Given the description of an element on the screen output the (x, y) to click on. 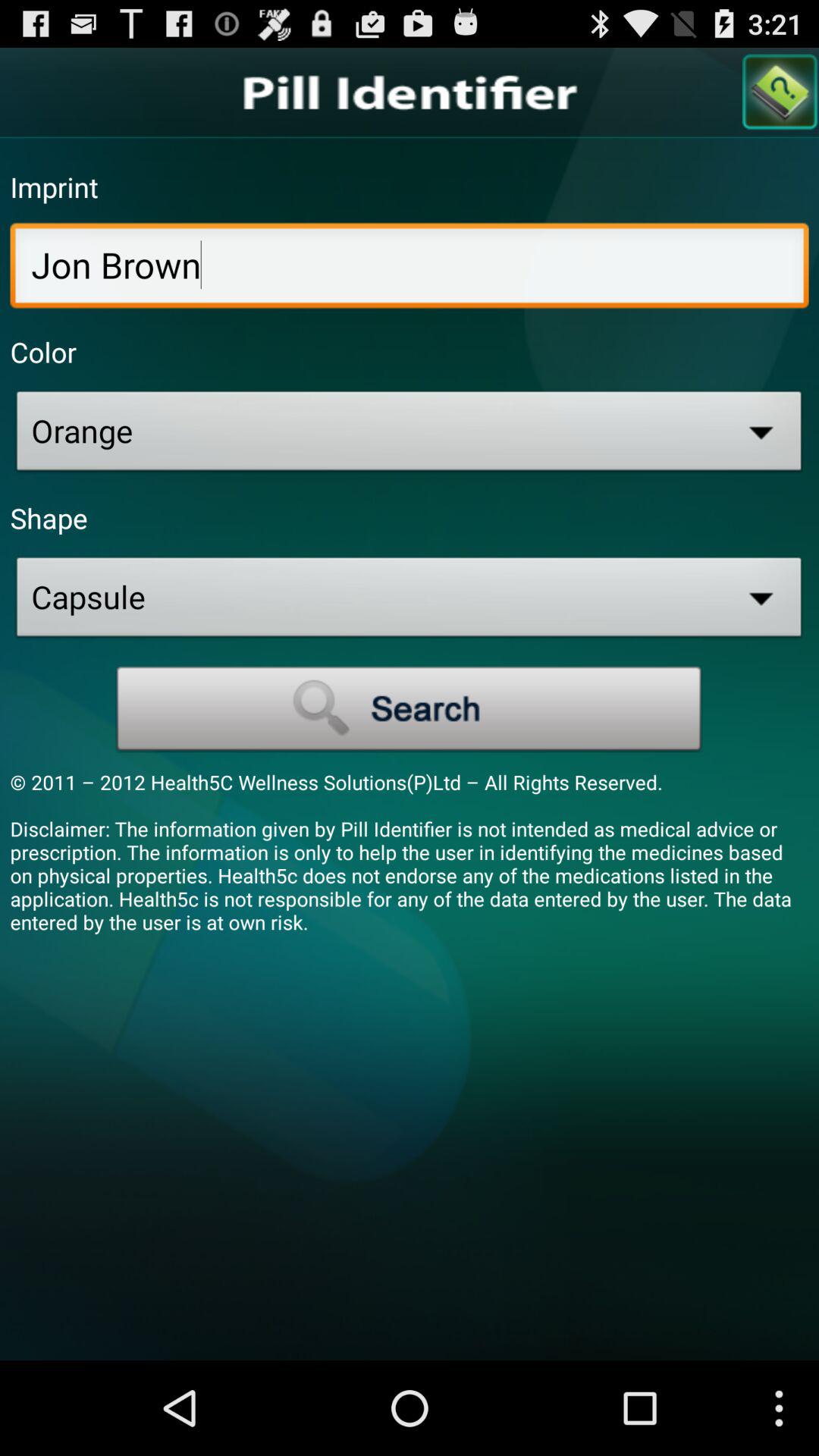
search page (780, 92)
